Given the description of an element on the screen output the (x, y) to click on. 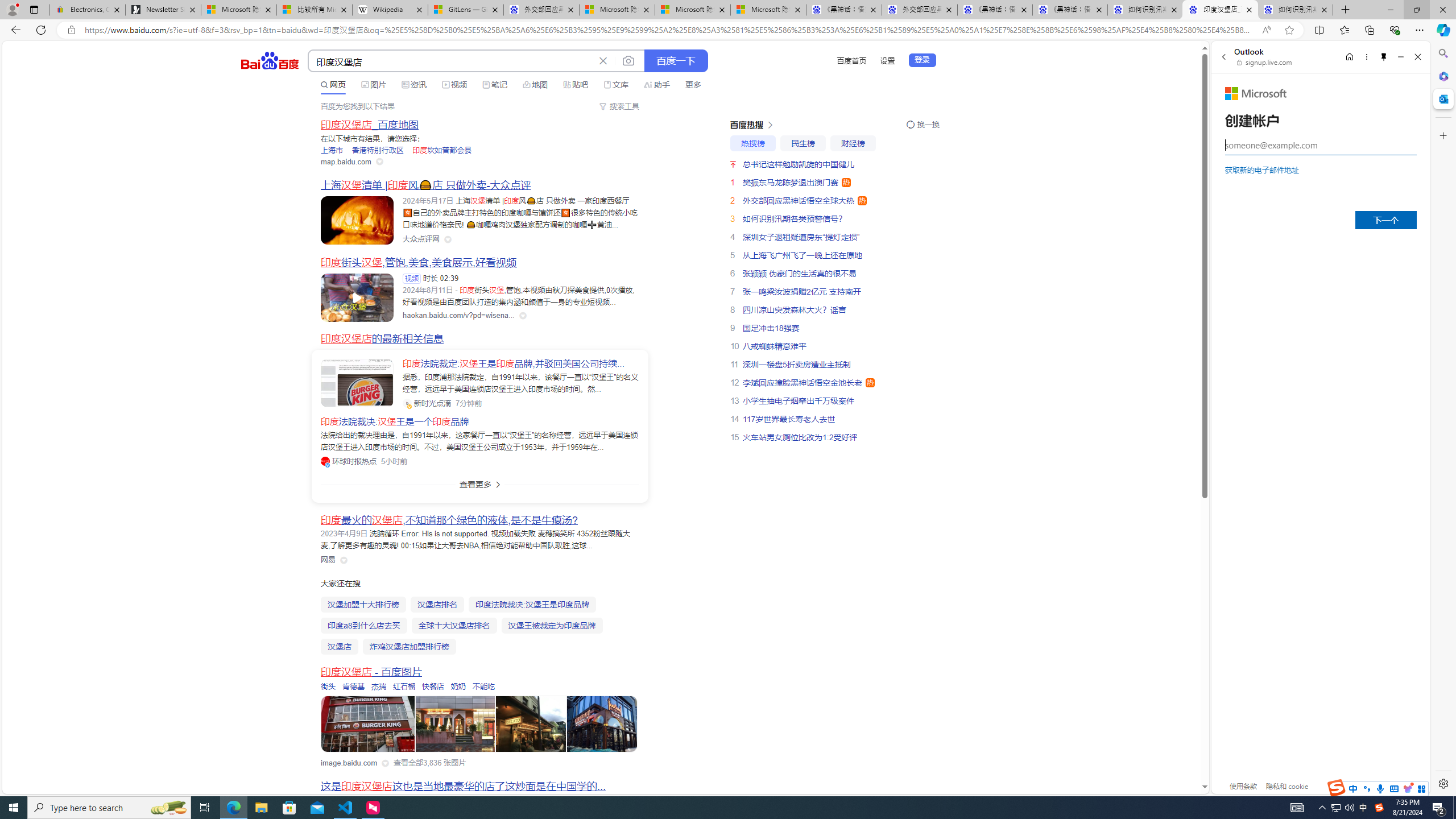
signup.live.com (1264, 61)
